Given the description of an element on the screen output the (x, y) to click on. 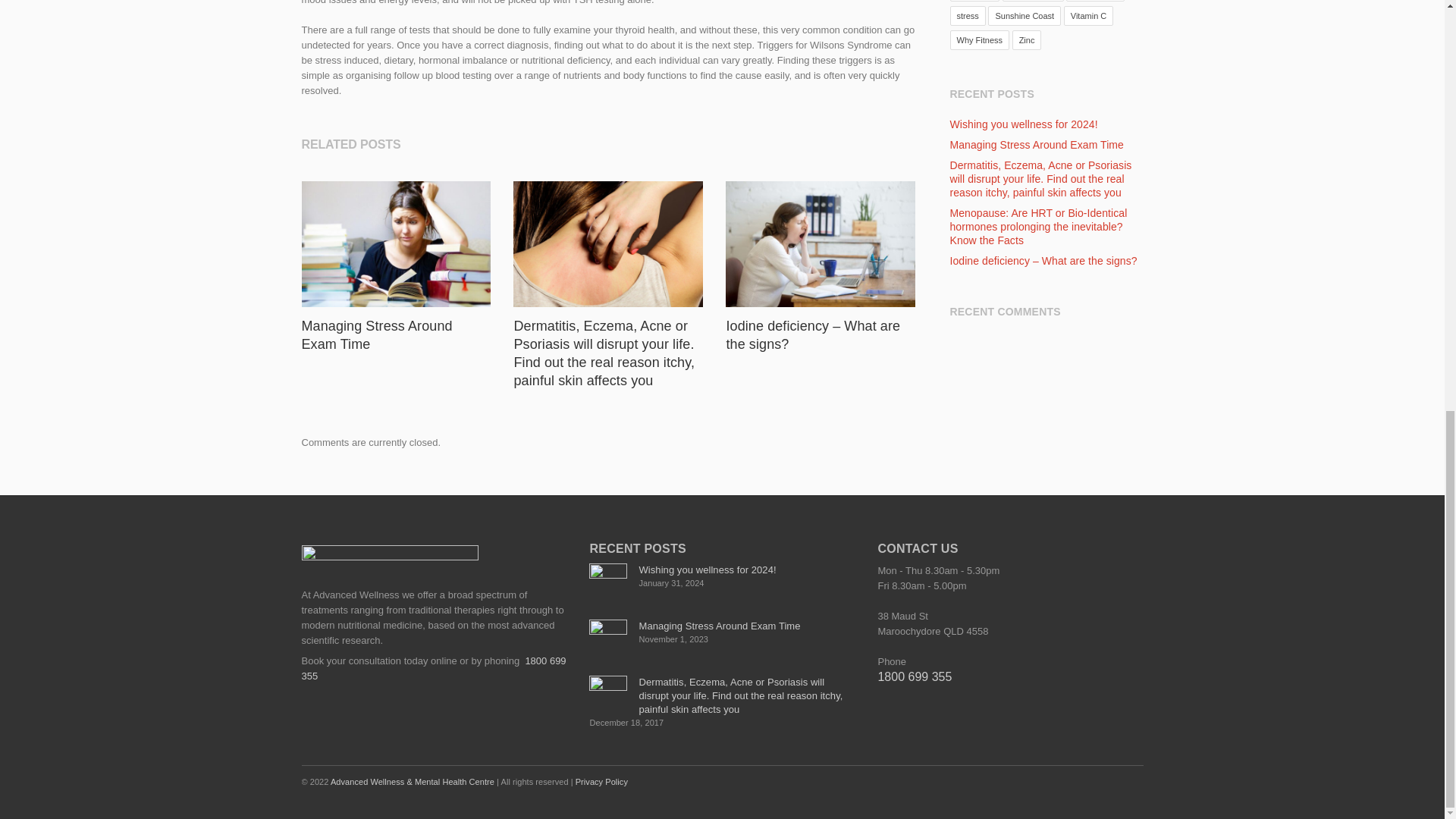
RSS (1127, 780)
Facebook (1064, 780)
Managing Stress Around Exam Time (376, 335)
Instagram (1096, 780)
